Given the description of an element on the screen output the (x, y) to click on. 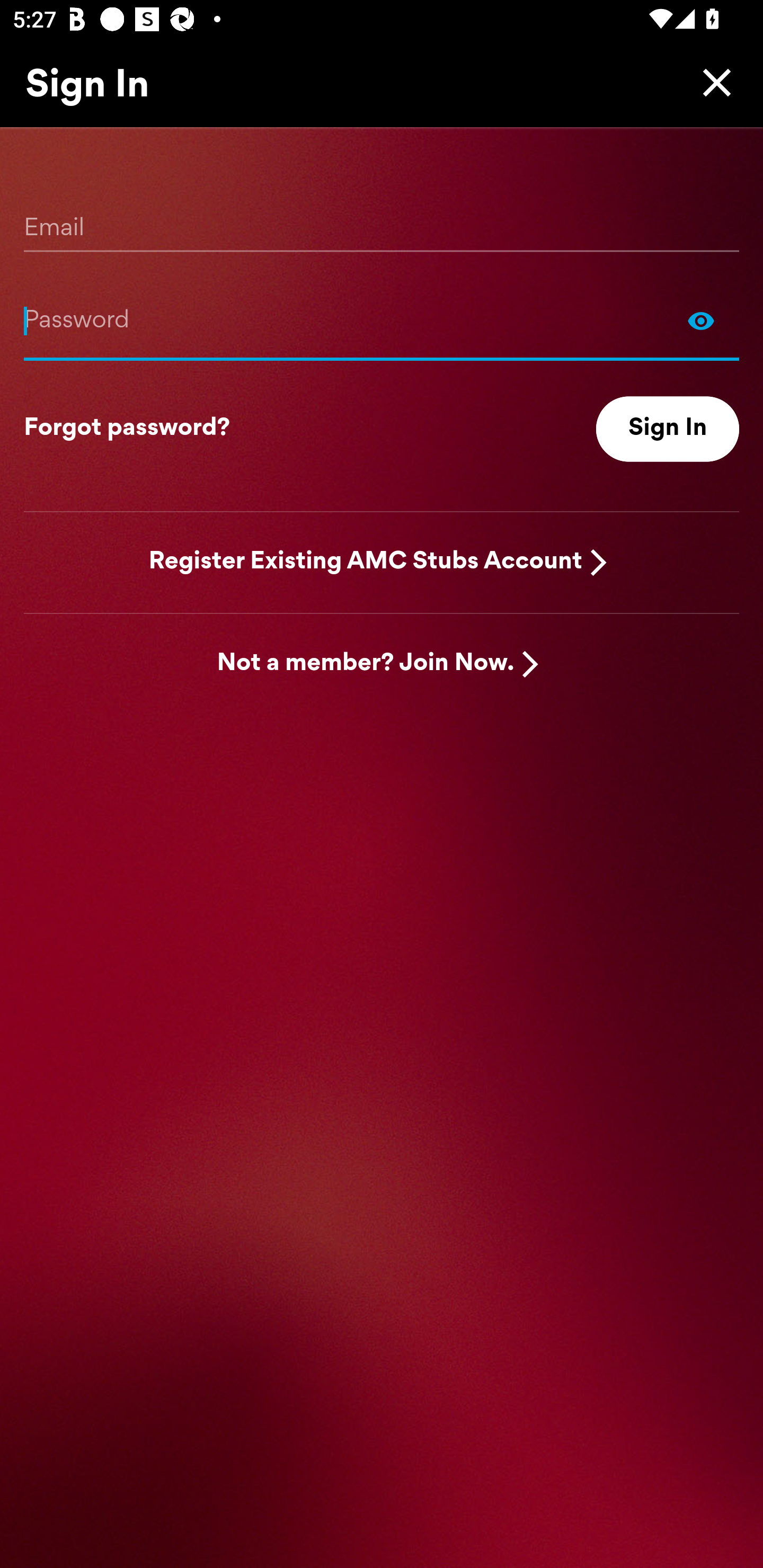
Close (712, 82)
Show Password (381, 320)
Show Password (701, 320)
Forgot password? (126, 428)
Sign In (667, 428)
Register Existing AMC Stubs Account (365, 561)
Not a member? Join Now. (365, 663)
